Given the description of an element on the screen output the (x, y) to click on. 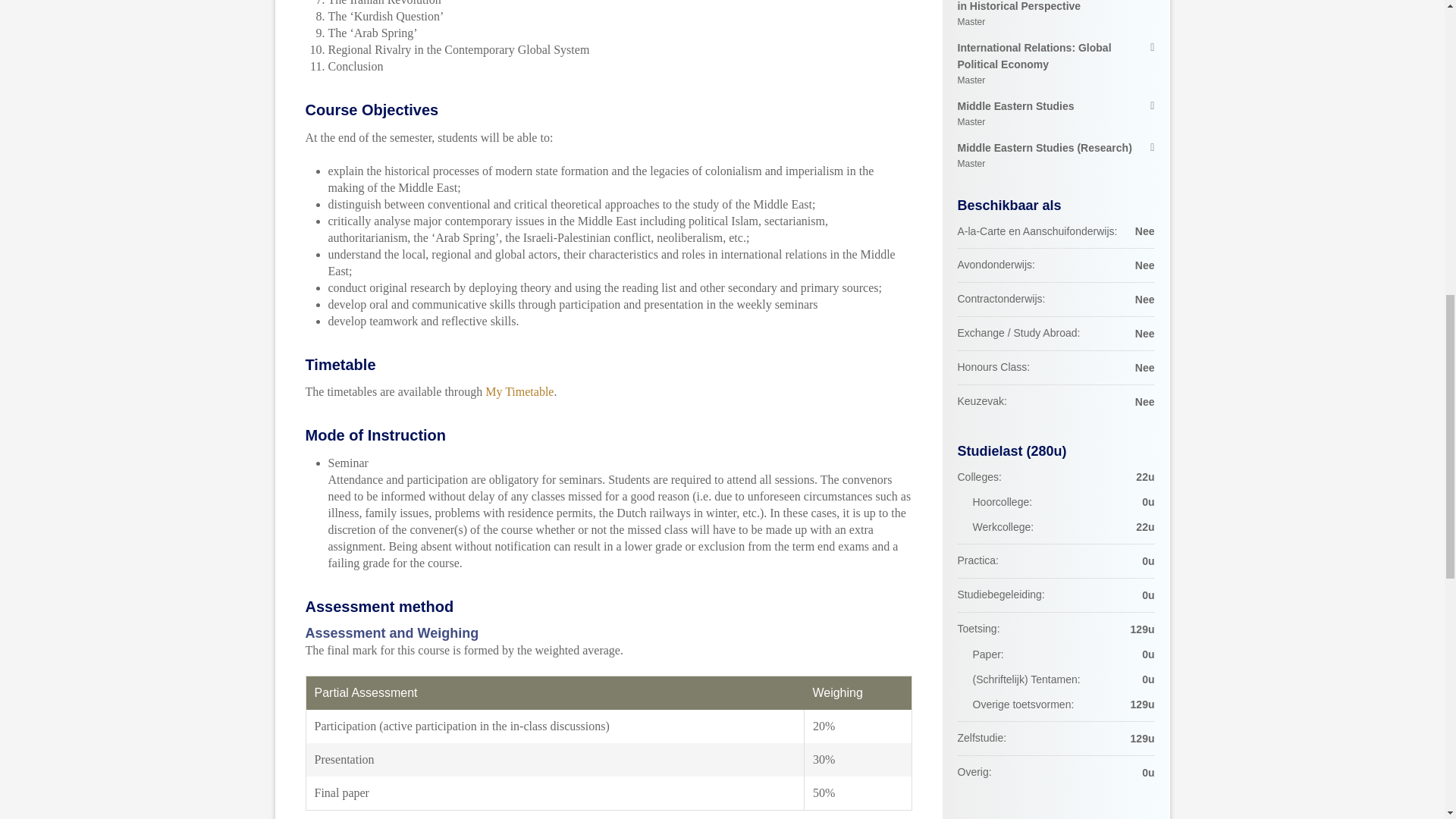
My Timetable (518, 391)
